Given the description of an element on the screen output the (x, y) to click on. 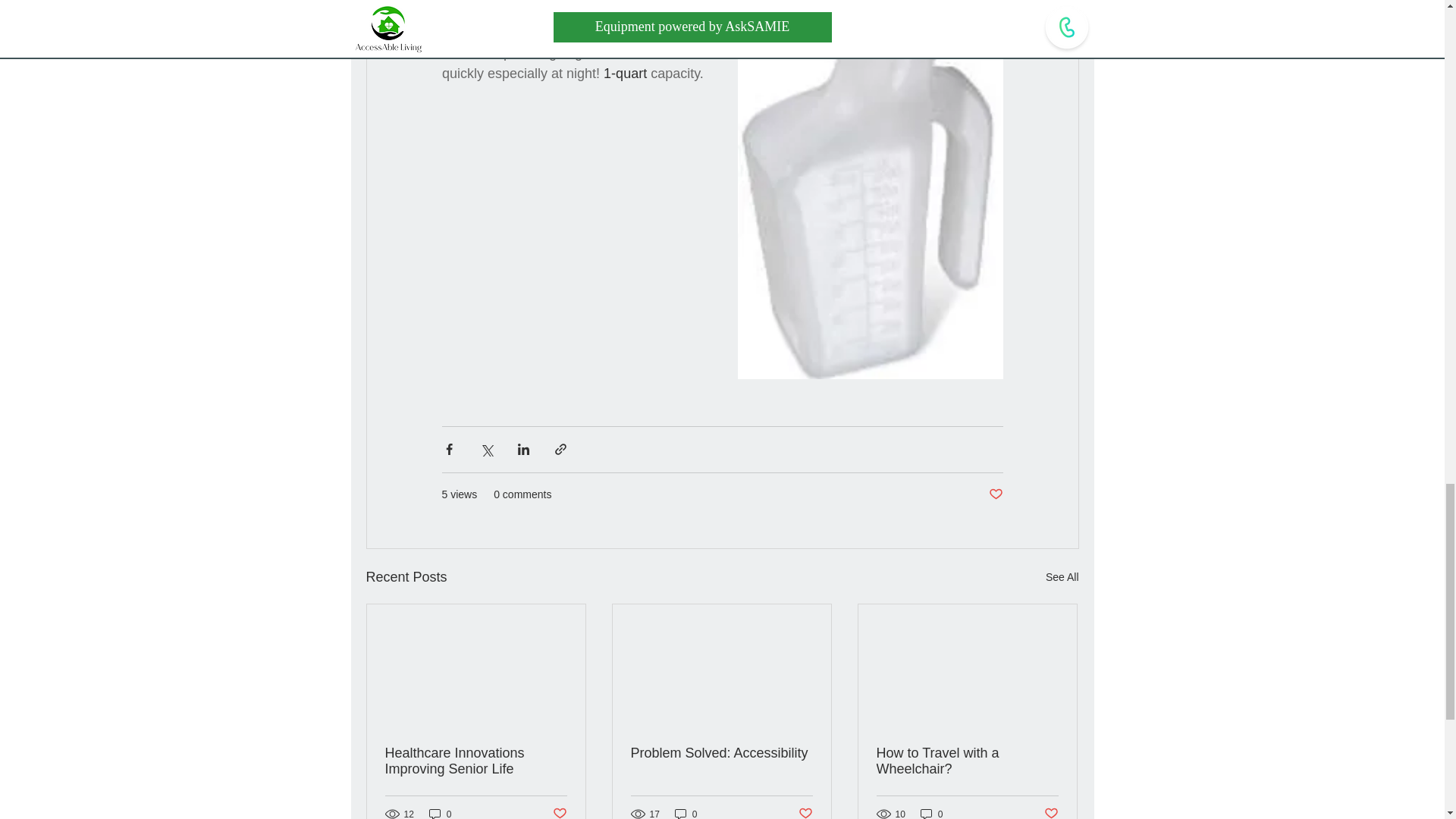
Healthcare Innovations Improving Senior Life (476, 761)
Post not marked as liked (558, 812)
See All (1061, 577)
0 (685, 812)
How to Travel with a Wheelchair? (967, 761)
Post not marked as liked (804, 812)
0 (440, 812)
Post not marked as liked (1050, 812)
0 (931, 812)
Problem Solved: Accessibility (721, 753)
